Given the description of an element on the screen output the (x, y) to click on. 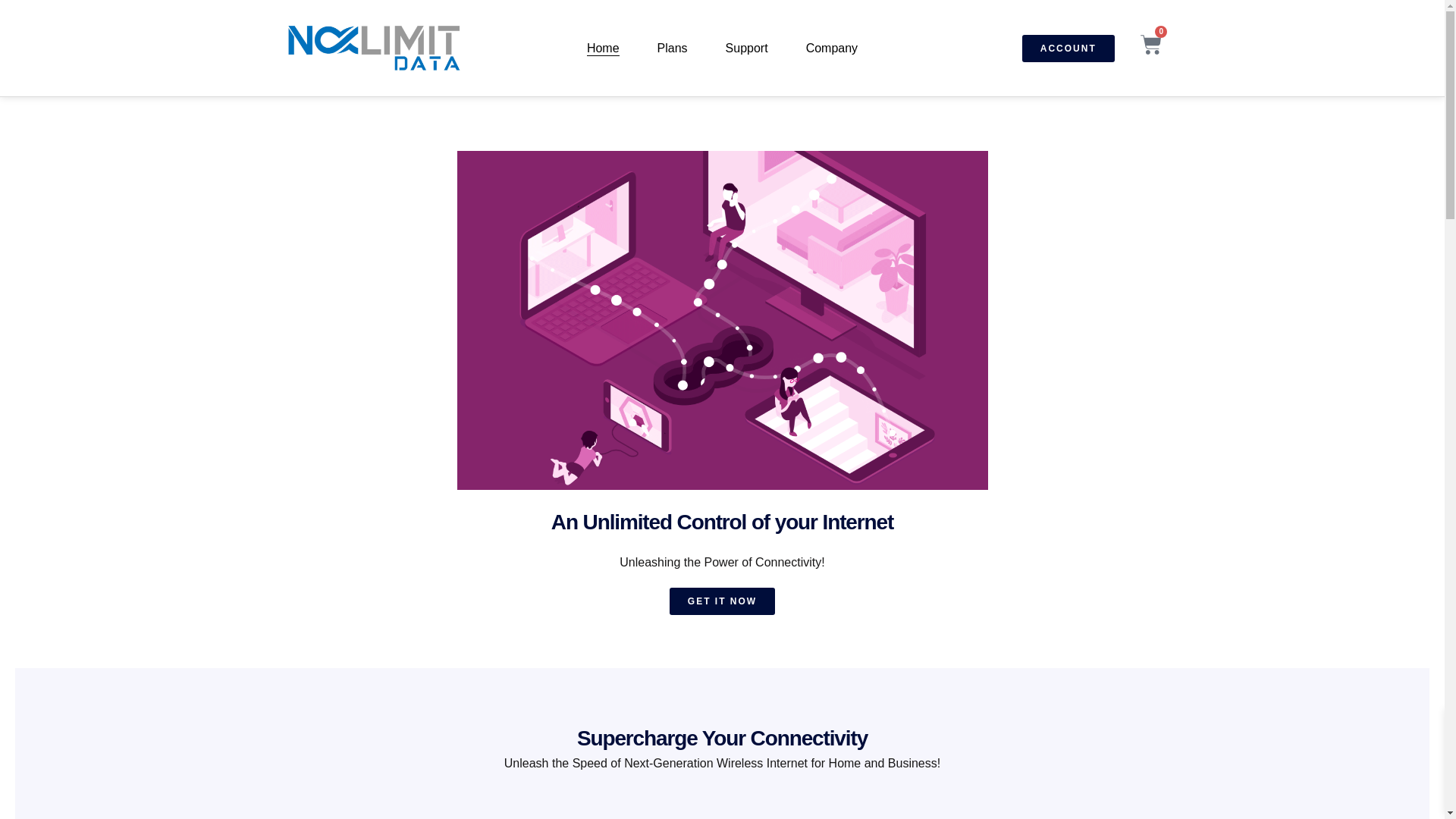
ACCOUNT (1068, 48)
GET IT NOW (721, 601)
Support (746, 48)
Home (603, 48)
0 (1150, 48)
Company (831, 48)
Plans (672, 48)
